Given the description of an element on the screen output the (x, y) to click on. 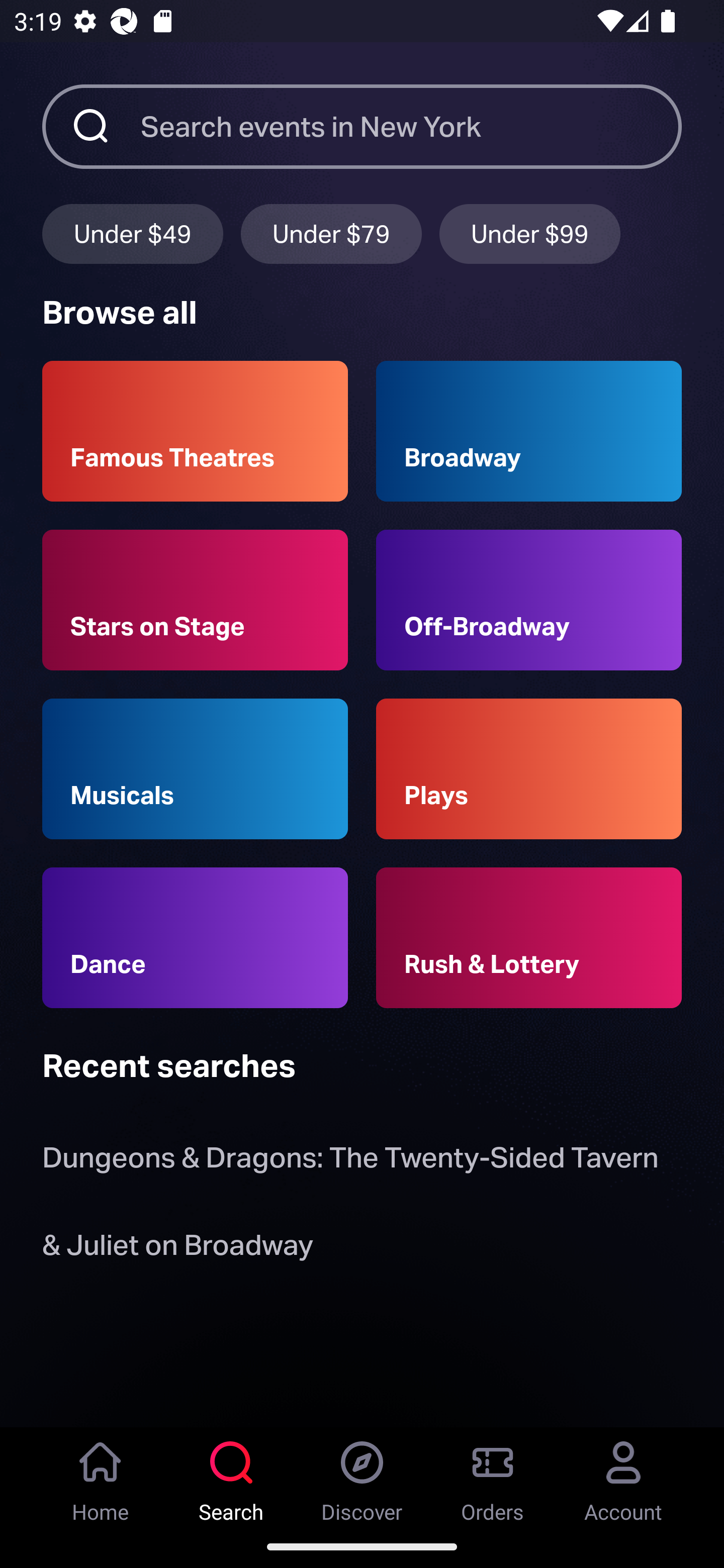
Search events in New York (411, 126)
Under $49 (131, 233)
Under $79 (331, 233)
Under $99 (529, 233)
Famous Theatres (194, 430)
Broadway (528, 430)
Stars on Stage (194, 600)
Off-Broadway (528, 600)
Musicals (194, 768)
Plays (528, 768)
Dance (194, 937)
Rush & Lottery (528, 937)
Dungeons & Dragons: The Twenty-Sided Tavern (349, 1161)
& Juliet on Broadway  (180, 1248)
Home (100, 1475)
Discover (361, 1475)
Orders (492, 1475)
Account (623, 1475)
